Given the description of an element on the screen output the (x, y) to click on. 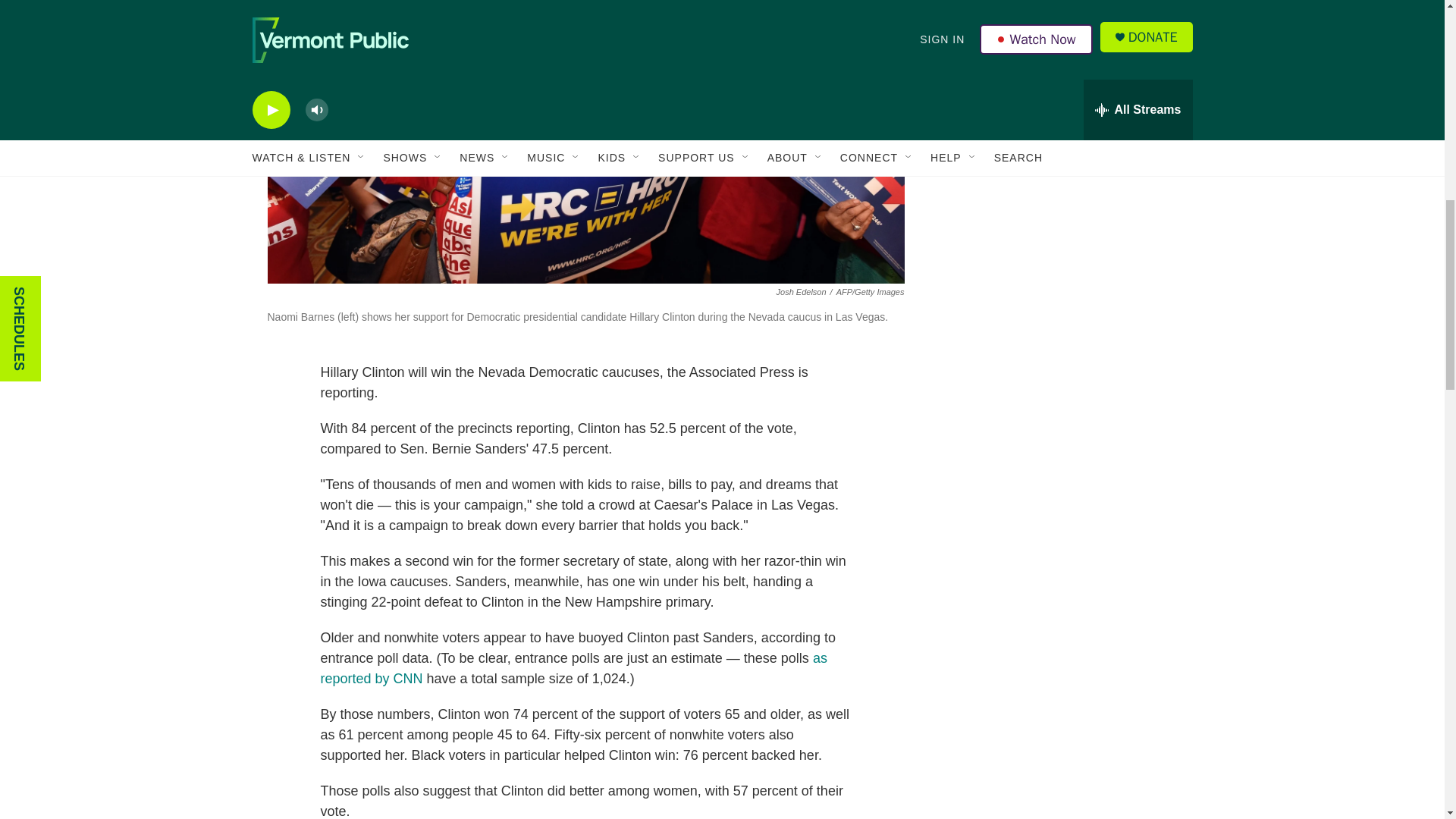
3rd party ad content (1062, 343)
3rd party ad content (1062, 124)
